Given the description of an element on the screen output the (x, y) to click on. 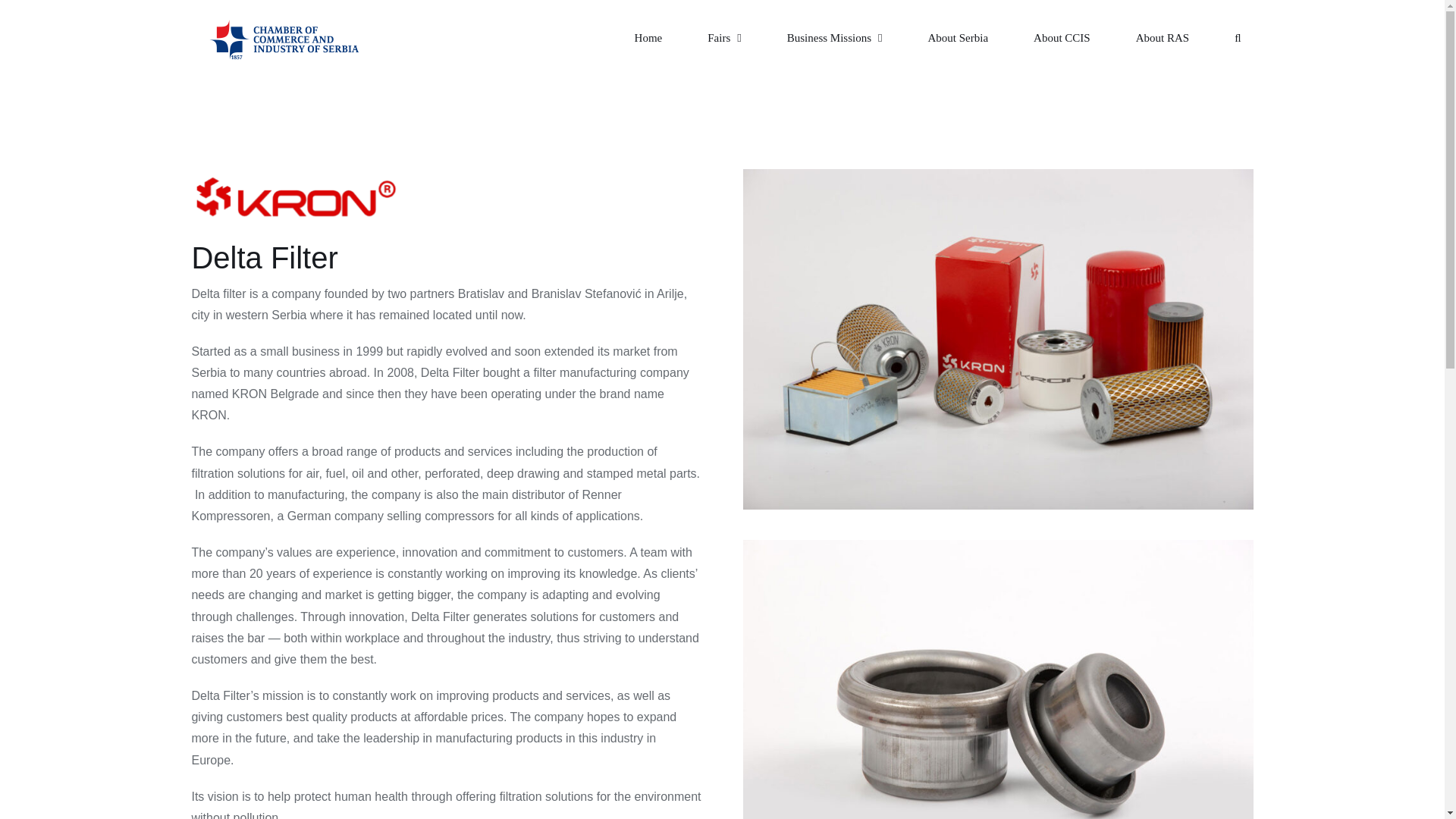
03delta (997, 545)
Business Missions (834, 38)
04delta (997, 174)
